Given the description of an element on the screen output the (x, y) to click on. 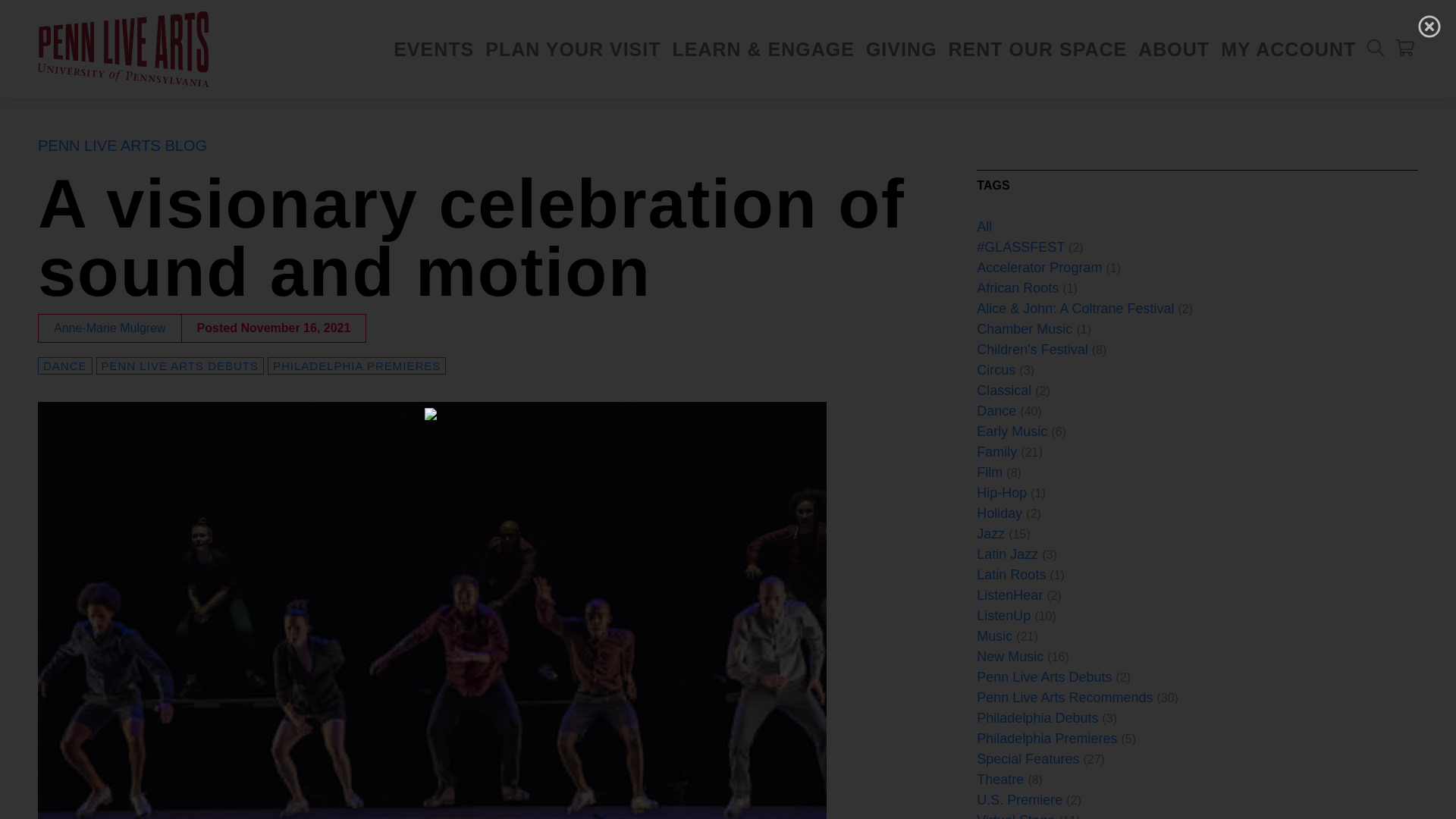
PLAN YOUR VISIT (572, 48)
SEARCH (1375, 47)
SHOPPING CART (1403, 47)
GIVING (901, 48)
EVENTS (433, 48)
ABOUT (1173, 48)
RENT OUR SPACE (1036, 48)
